Given the description of an element on the screen output the (x, y) to click on. 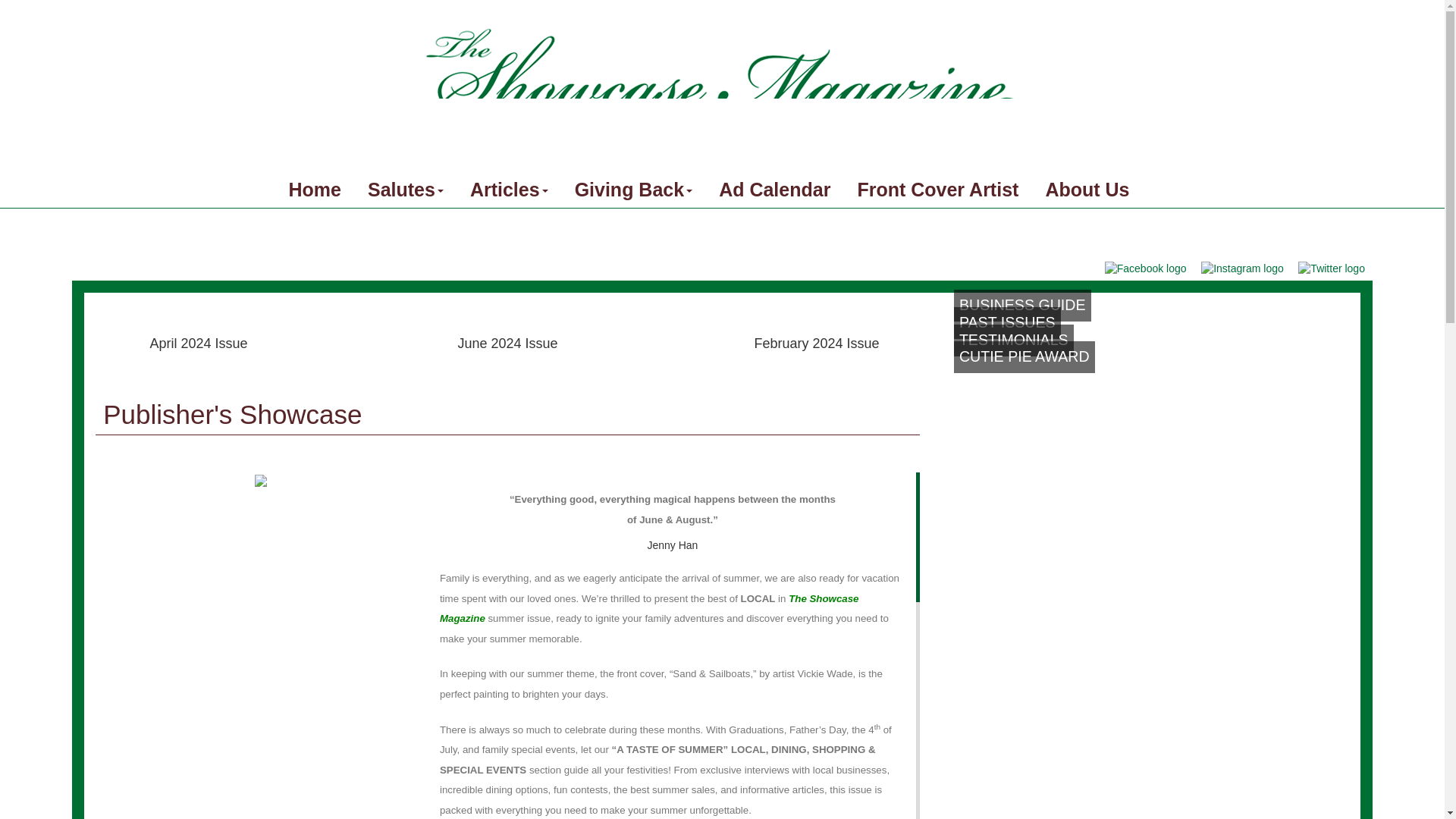
Articles (509, 189)
Home (314, 189)
Salutes (406, 189)
Giving Back (634, 189)
